Given the description of an element on the screen output the (x, y) to click on. 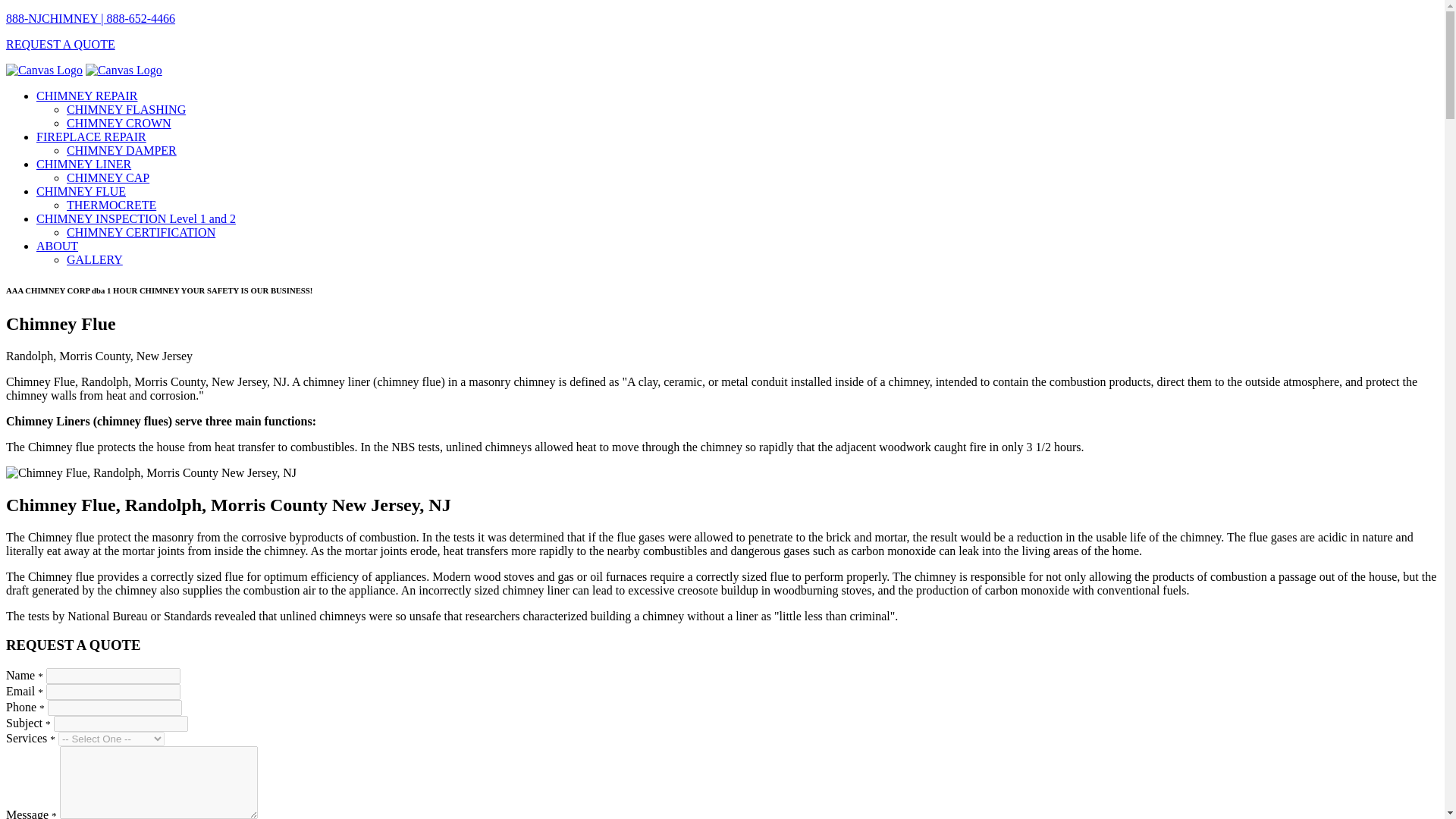
REQUEST A QUOTE (60, 43)
